Given the description of an element on the screen output the (x, y) to click on. 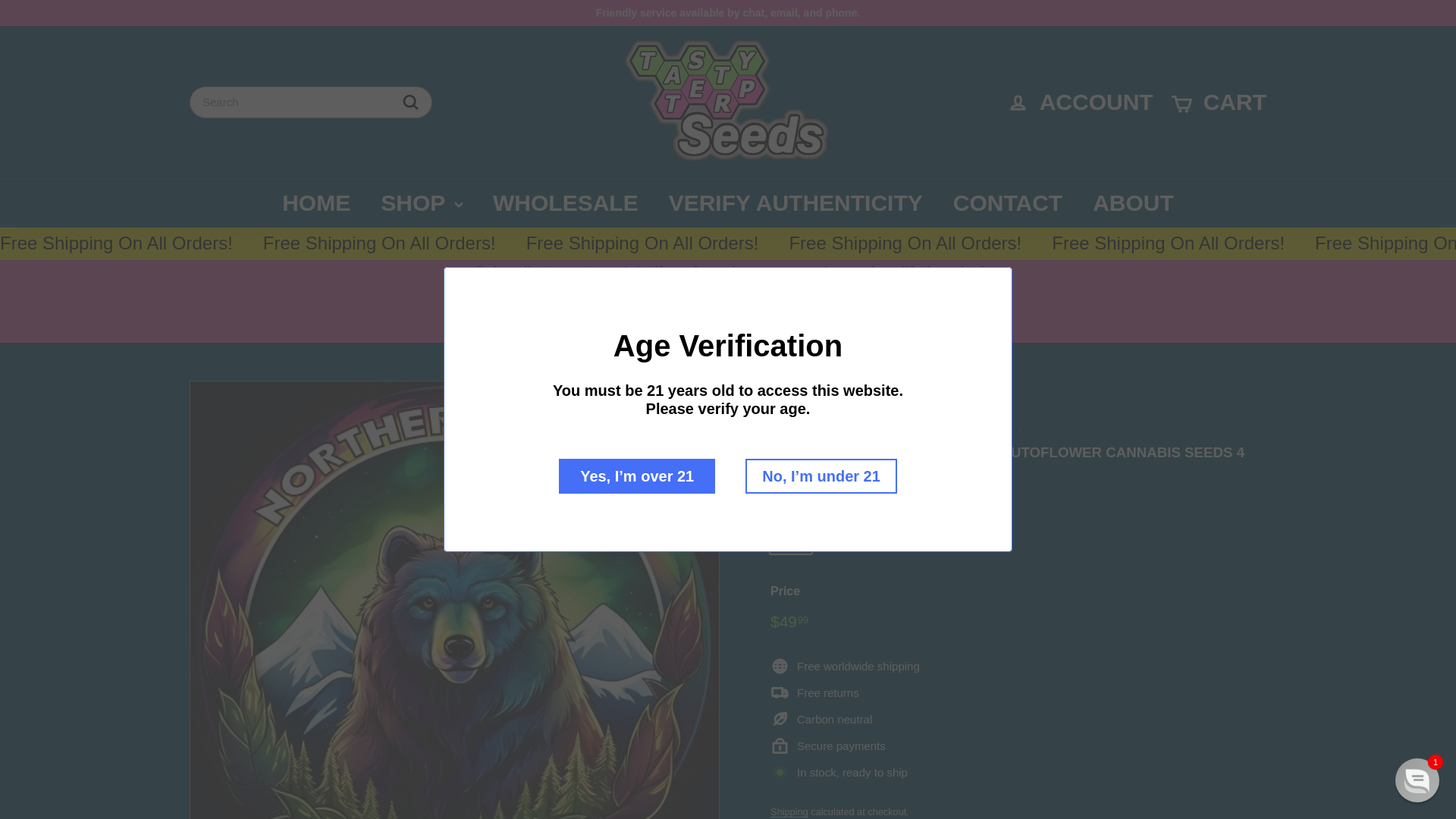
HOME (315, 202)
Tasty Terp Seeds (813, 492)
VERIFY AUTHENTICITY (795, 202)
CART (1218, 101)
ACCOUNT (1079, 101)
ABOUT (1133, 202)
Back to the frontpage (783, 429)
CONTACT (1007, 202)
WHOLESALE (565, 202)
